Given the description of an element on the screen output the (x, y) to click on. 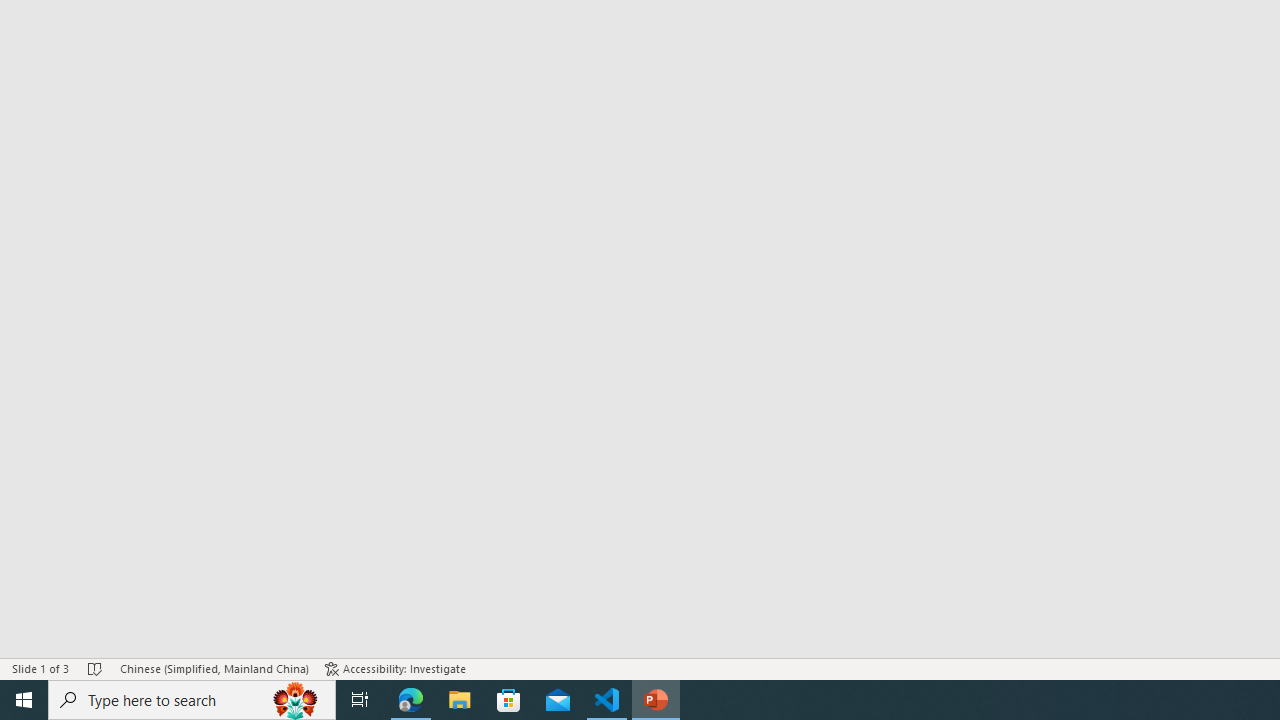
Accessibility Checker Accessibility: Investigate (395, 668)
Spell Check No Errors (95, 668)
